Given the description of an element on the screen output the (x, y) to click on. 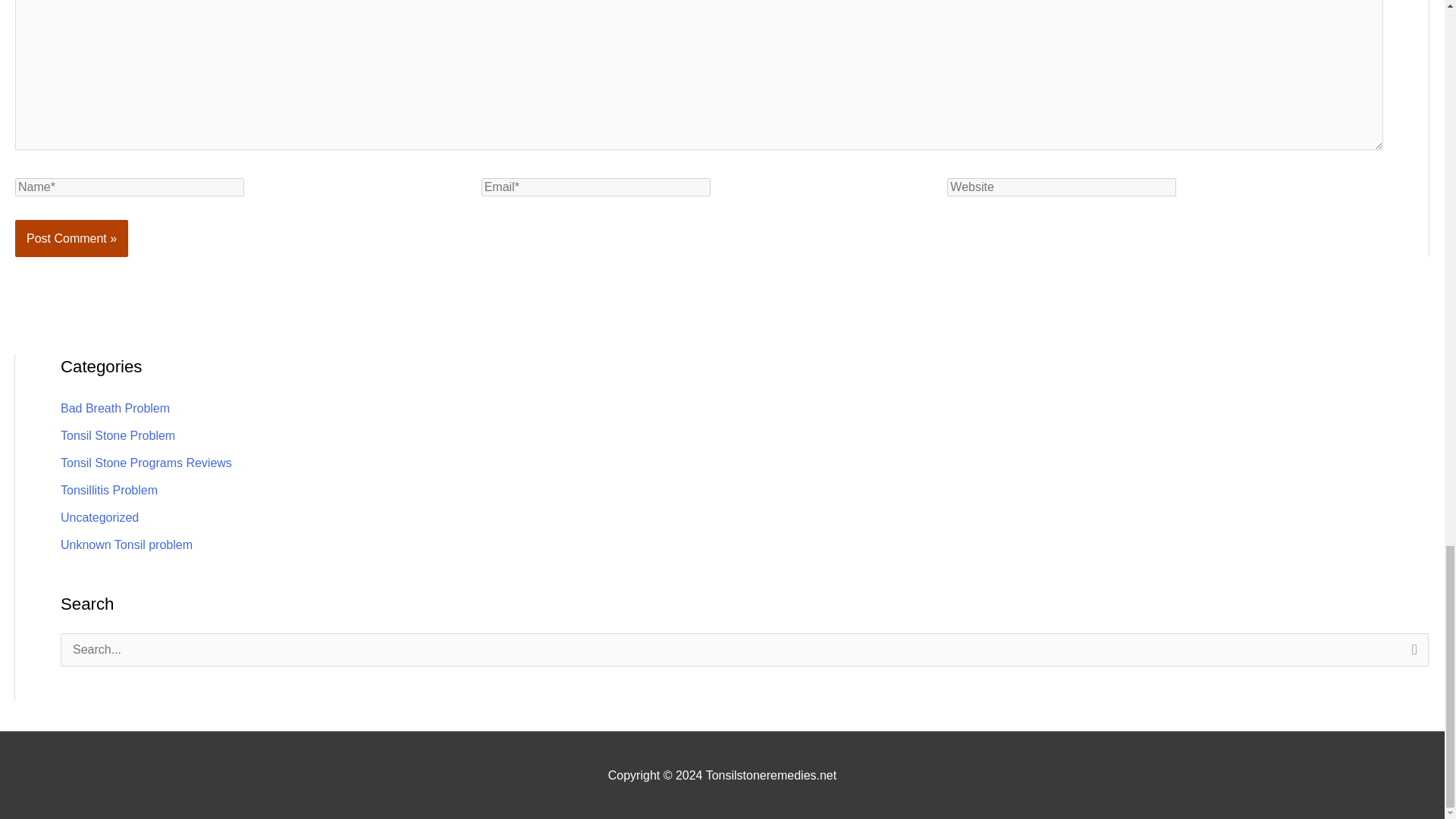
Tonsil Stone Problem (117, 435)
Tonsil Stone Programs Reviews (146, 462)
Unknown Tonsil problem (126, 544)
Bad Breath Problem (115, 408)
Tonsillitis Problem (109, 490)
Uncategorized (99, 517)
